Given the description of an element on the screen output the (x, y) to click on. 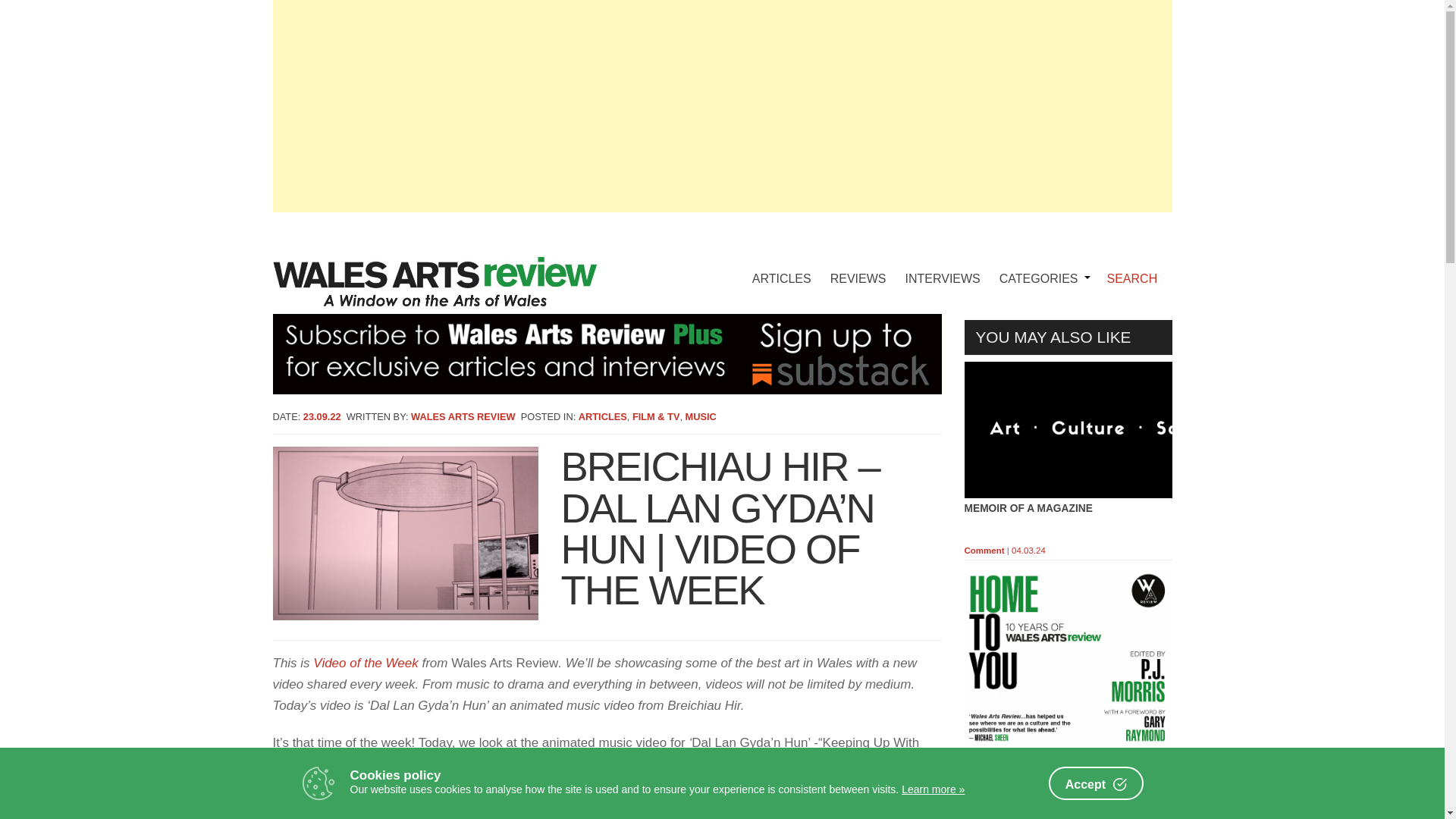
CATEGORIES (1042, 267)
Advertisement (1067, 789)
REVIEWS (858, 267)
Search for: (1137, 278)
23.09.22 (321, 416)
ARTICLES (781, 267)
INTERVIEWS (943, 267)
